Given the description of an element on the screen output the (x, y) to click on. 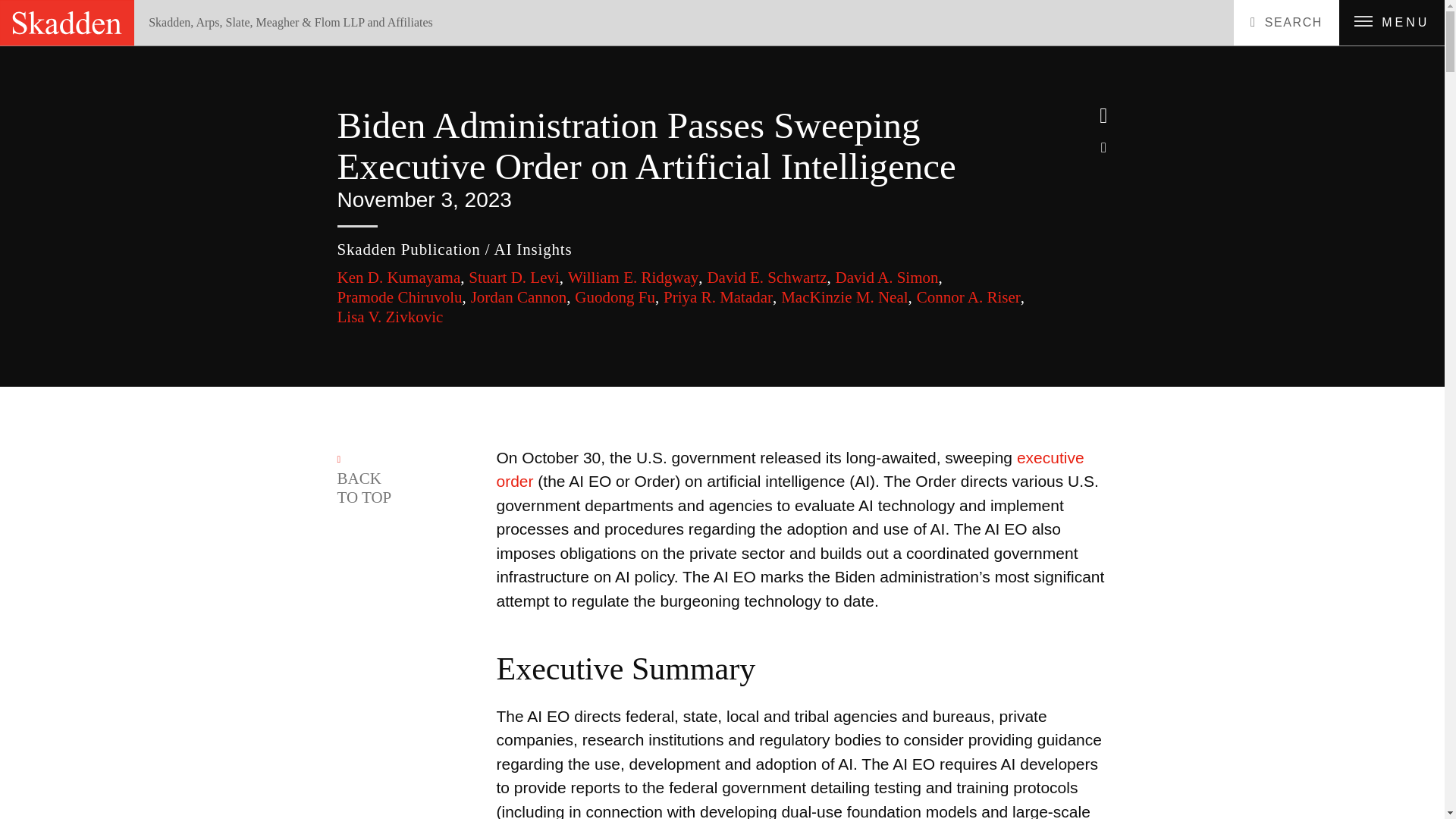
Home (173, 50)
Guodong Fu (617, 297)
Priya R. Matadar (719, 297)
Pramode Chiruvolu (400, 297)
Insights (215, 50)
MacKinzie M. Neal (846, 297)
Jordan Cannon (520, 297)
executive order (789, 469)
William E. Ridgway (635, 277)
Ken D. Kumayama (400, 277)
David E. Schwartz (767, 277)
Stuart D. Levi (515, 277)
Lisa V. Zivkovic (389, 316)
Connor A. Riser (971, 297)
David A. Simon (888, 277)
